Given the description of an element on the screen output the (x, y) to click on. 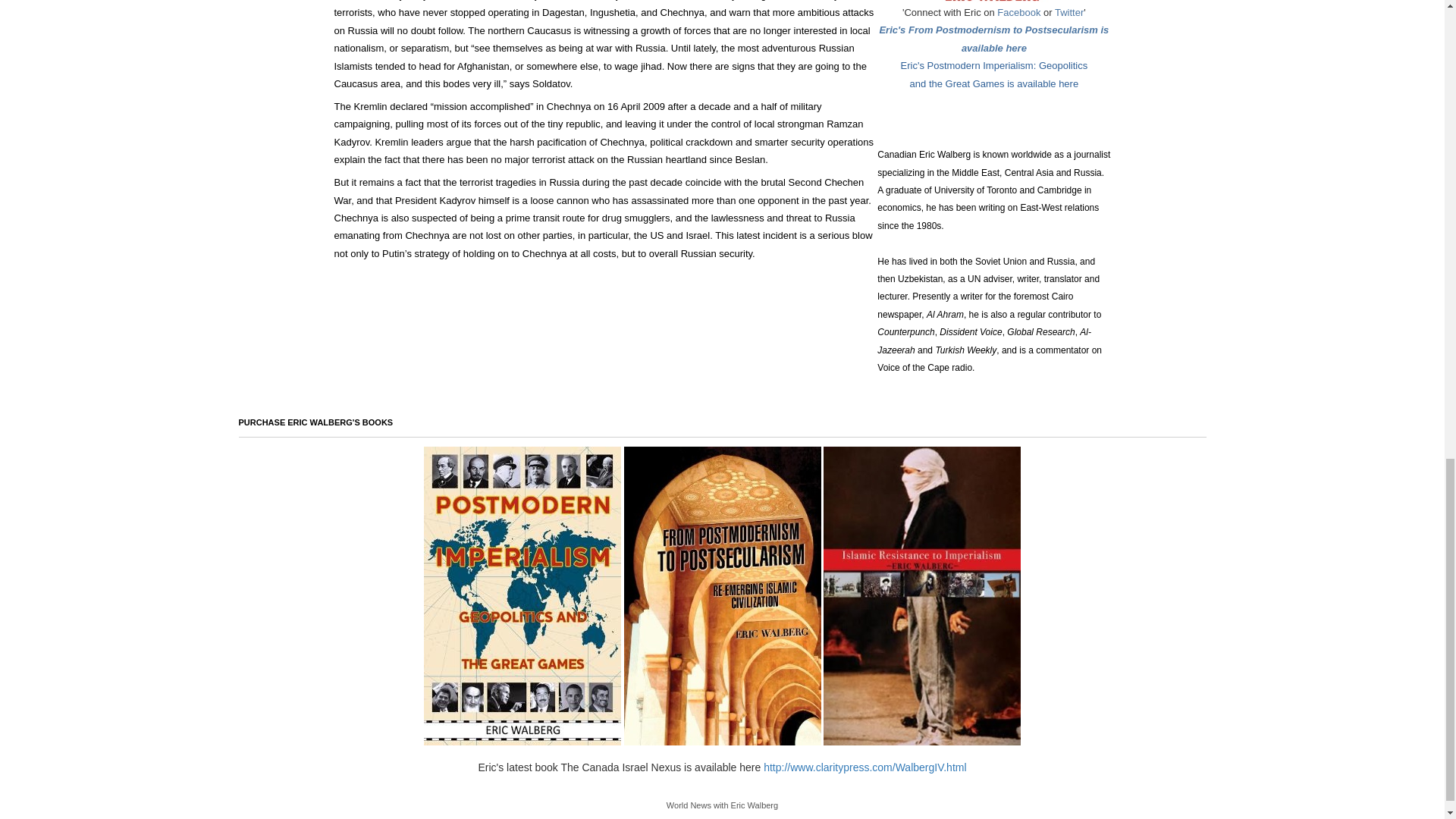
Facebook (1019, 12)
Twitter (1068, 12)
